Given the description of an element on the screen output the (x, y) to click on. 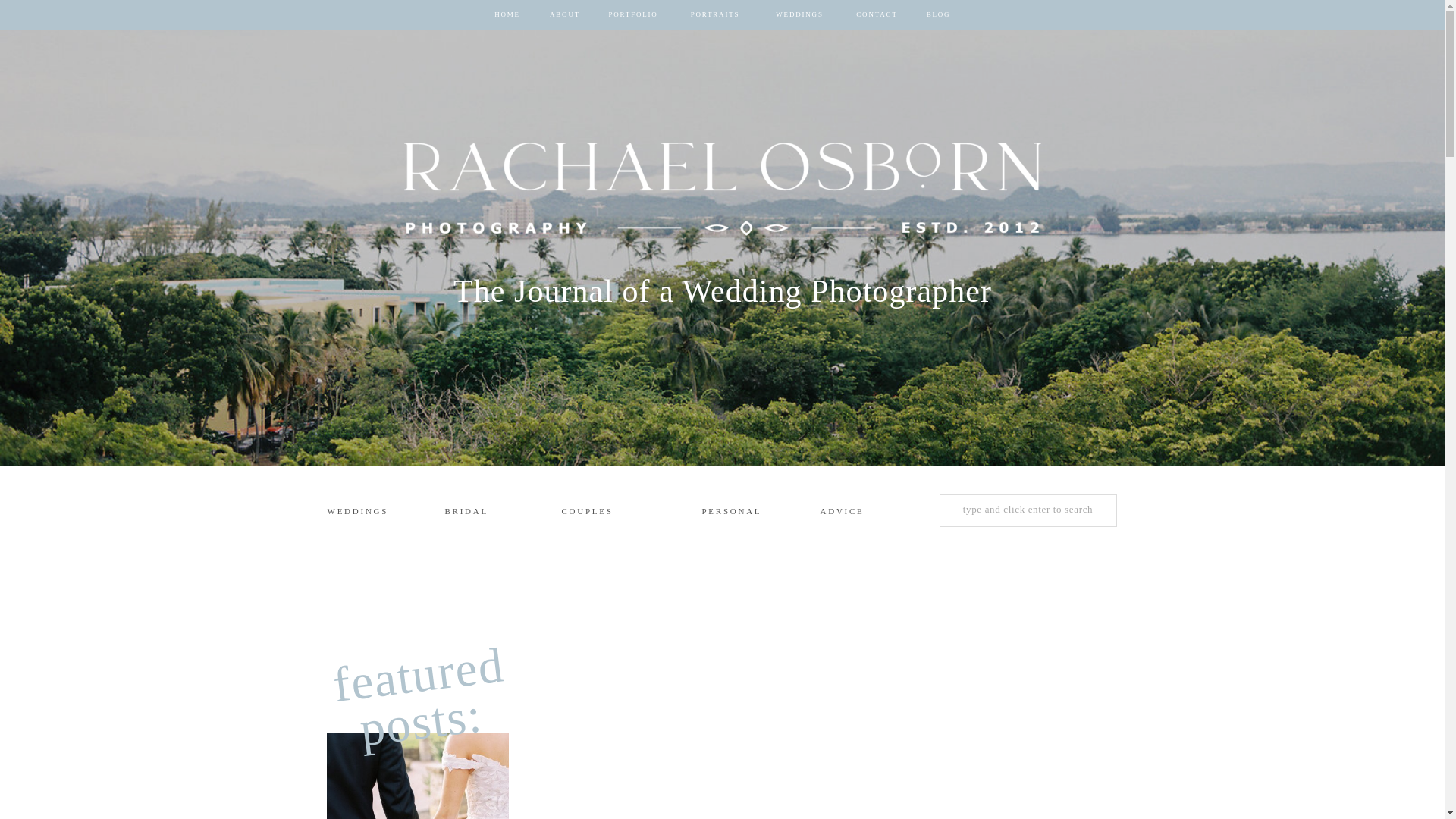
HOME (507, 15)
WEDDINGS (799, 15)
PORTFOLIO (633, 15)
ADVICE (849, 512)
CONTACT (877, 15)
BRIDAL (474, 512)
ABOUT (563, 15)
BLOG (938, 15)
PORTRAITS (714, 15)
